Given the description of an element on the screen output the (x, y) to click on. 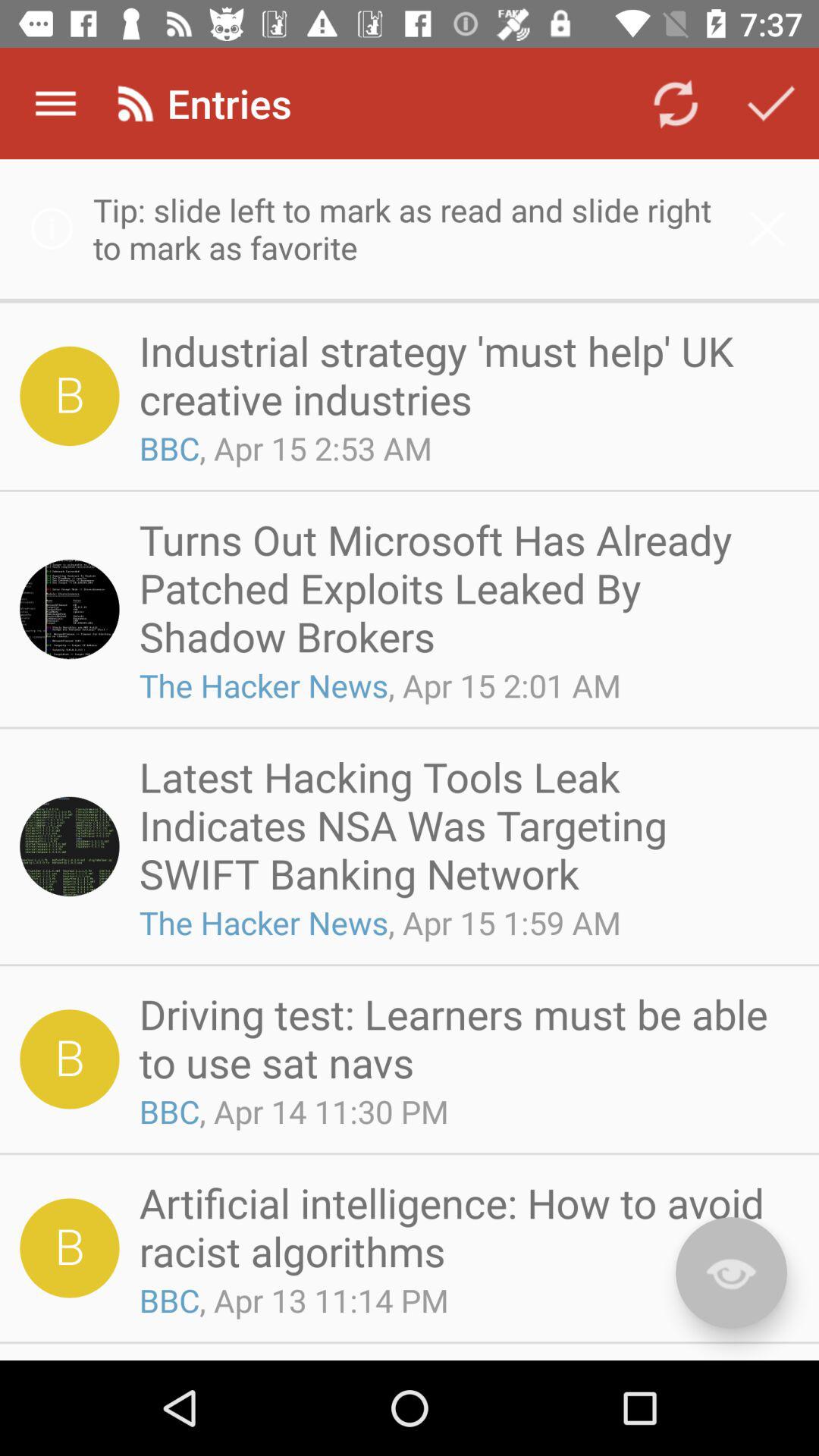
choose the app below the hacker news (463, 1037)
